Given the description of an element on the screen output the (x, y) to click on. 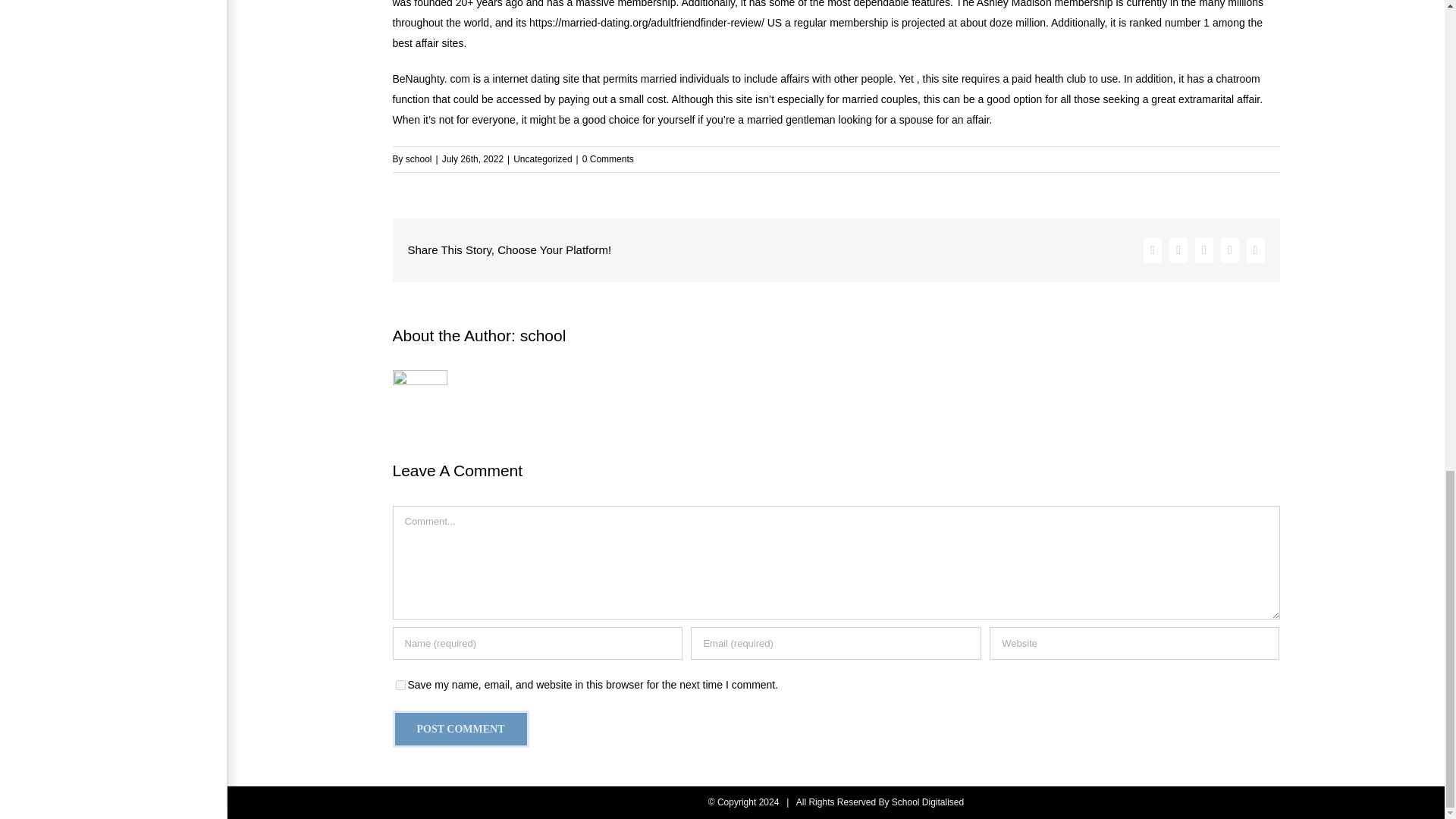
Post Comment (461, 728)
school (419, 158)
0 Comments (607, 158)
Uncategorized (542, 158)
Posts by school (419, 158)
yes (401, 685)
school (542, 334)
Posts by school (542, 334)
Post Comment (461, 728)
